Given the description of an element on the screen output the (x, y) to click on. 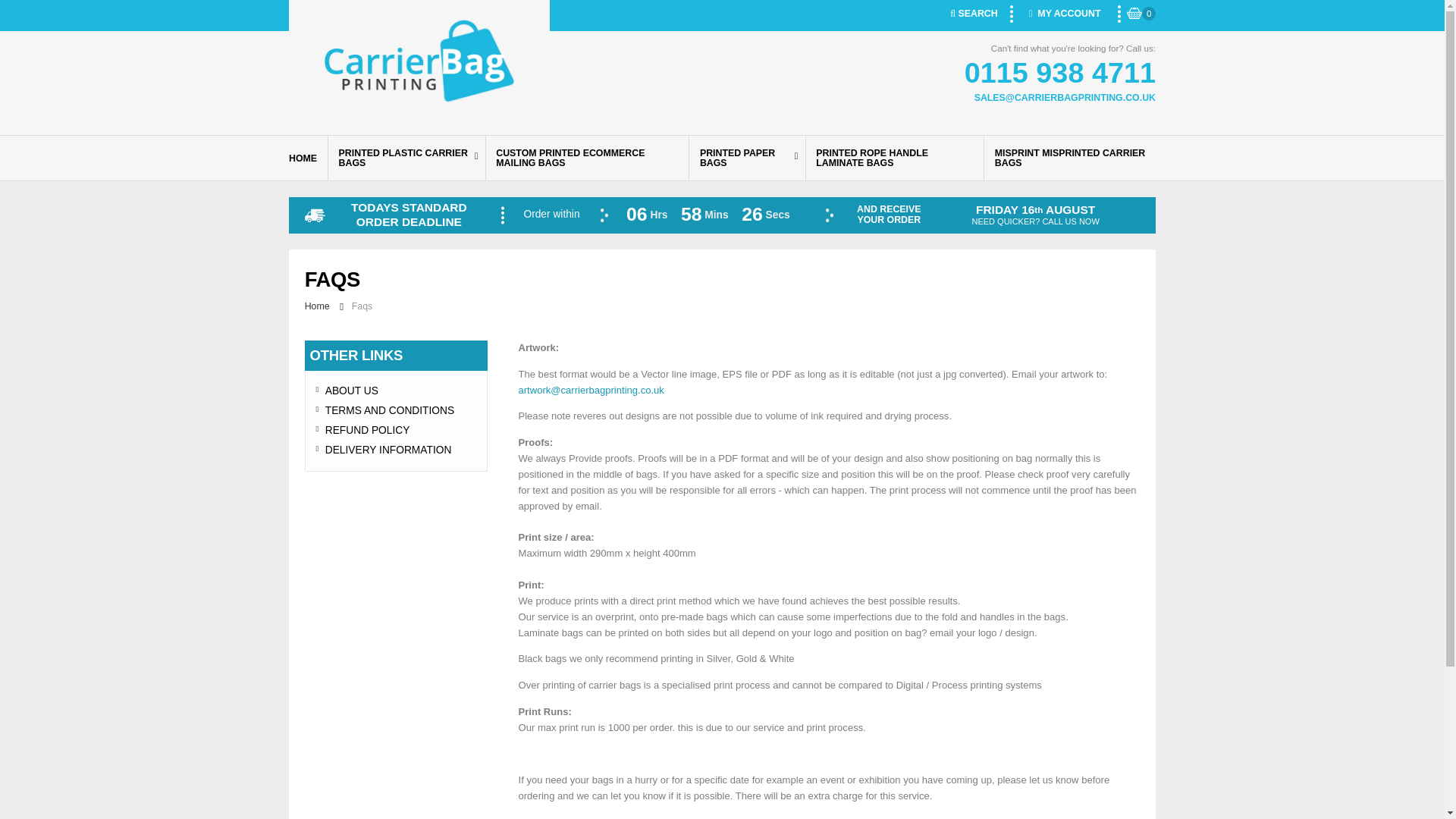
SEARCH (973, 13)
PRINTED ROPE HANDLE LAMINATE BAGS (894, 157)
MISPRINT MISPRINTED CARRIER BAGS (1070, 157)
DELIVERY INFORMATION (395, 450)
PRINTED PAPER BAGS (746, 157)
PRINTED PLASTIC CARRIER BAGS (405, 157)
ABOUT US (395, 391)
CUSTOM PRINTED ECOMMERCE MAILING BAGS (586, 157)
HOME (307, 158)
REFUND POLICY (395, 430)
TERMS AND CONDITIONS (395, 410)
MY ACCOUNT (1063, 13)
Home (317, 306)
0115 938 4711 (1141, 13)
